Given the description of an element on the screen output the (x, y) to click on. 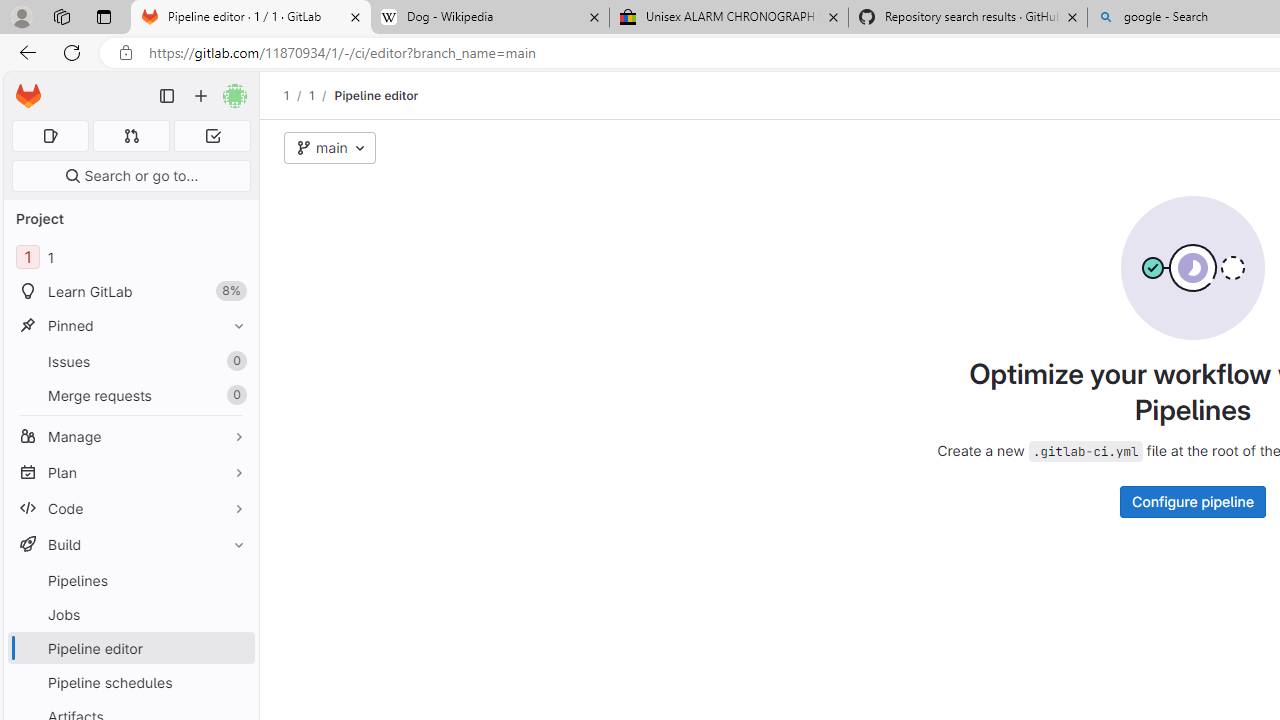
Configure pipeline (1192, 501)
Pin Jobs (234, 614)
Assigned issues 0 (50, 136)
Pipeline editor (376, 95)
Merge requests 0 (131, 136)
Unpin Issues (234, 361)
Pipelines (130, 579)
Pin Pipeline editor (234, 647)
1/ (321, 95)
Pin Pipelines (234, 580)
main (330, 147)
